Given the description of an element on the screen output the (x, y) to click on. 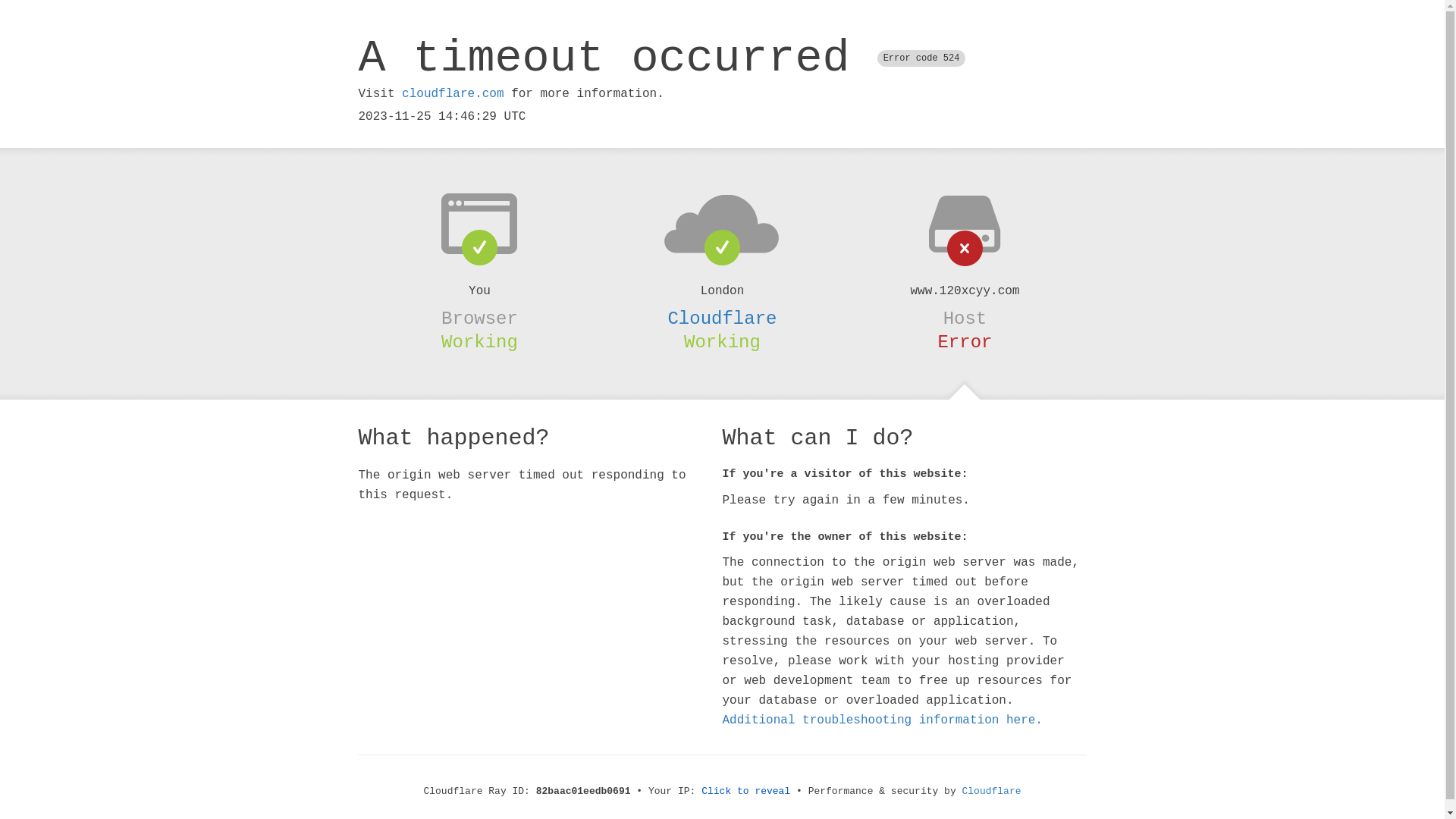
Cloudflare Element type: text (991, 791)
cloudflare.com Element type: text (452, 93)
Additional troubleshooting information here. Element type: text (881, 720)
Click to reveal Element type: text (745, 791)
Cloudflare Element type: text (721, 318)
